Given the description of an element on the screen output the (x, y) to click on. 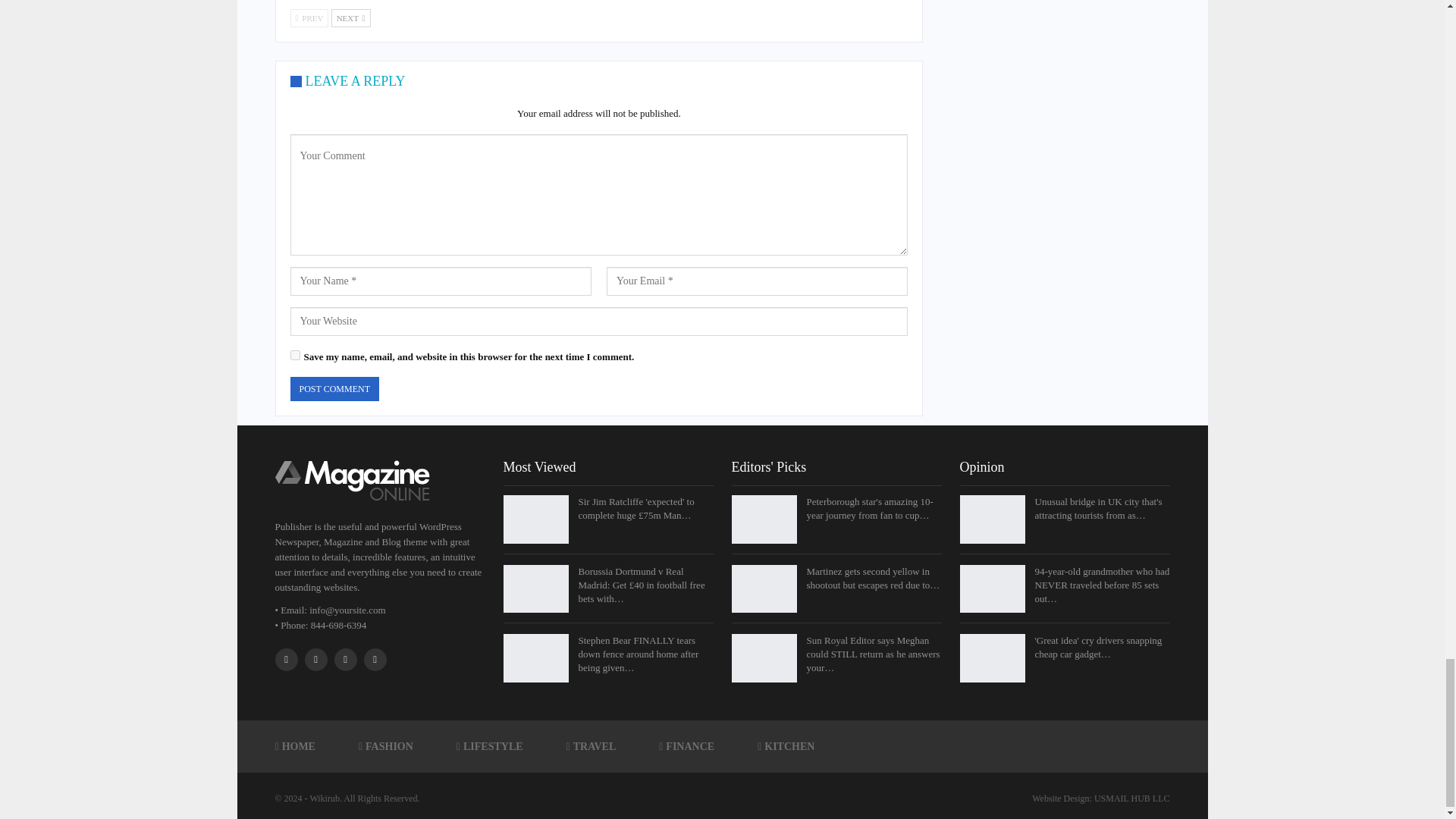
Post Comment (333, 389)
yes (294, 355)
